Given the description of an element on the screen output the (x, y) to click on. 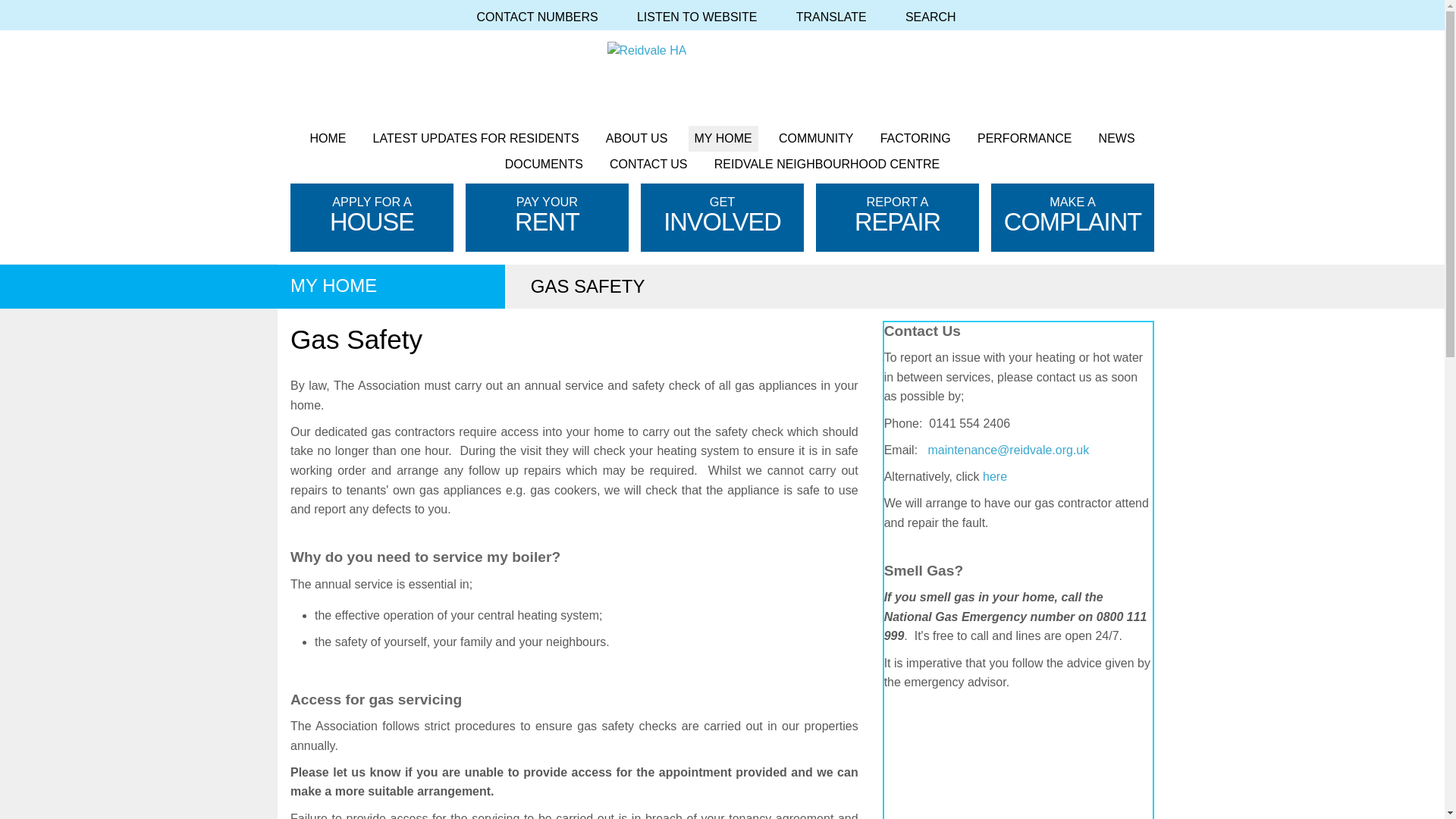
MY HOME (723, 138)
SEARCH (936, 17)
CONTACT NUMBERS (542, 17)
LISTEN TO WEBSITE (703, 17)
TRANSLATE (837, 17)
ABOUT US (636, 138)
HOME (327, 138)
LATEST UPDATES FOR RESIDENTS (475, 138)
Report a repair form (994, 476)
COMMUNITY (816, 138)
